Given the description of an element on the screen output the (x, y) to click on. 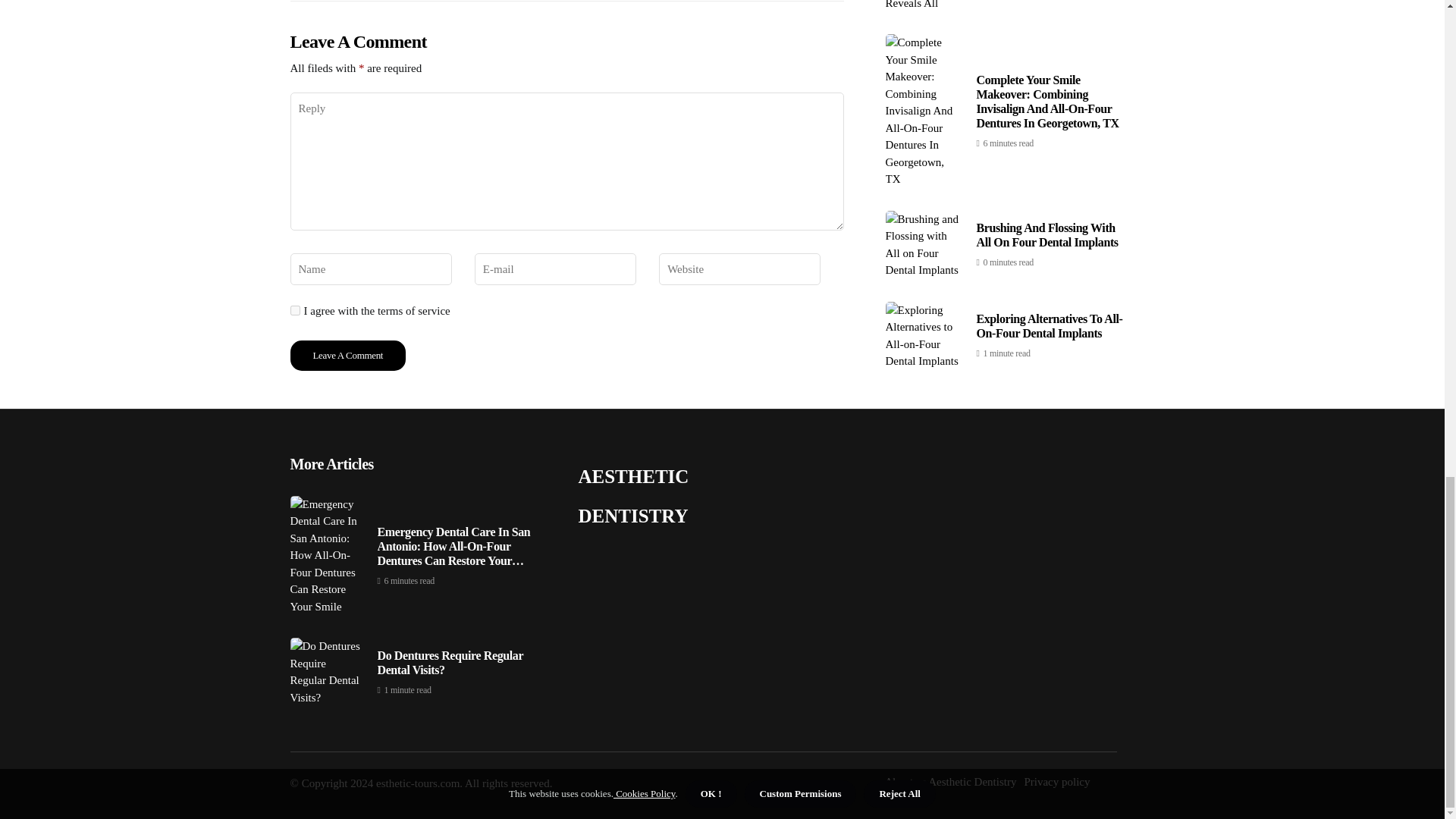
Leave a Comment (347, 355)
Leave a Comment (347, 355)
yes (294, 310)
